Given the description of an element on the screen output the (x, y) to click on. 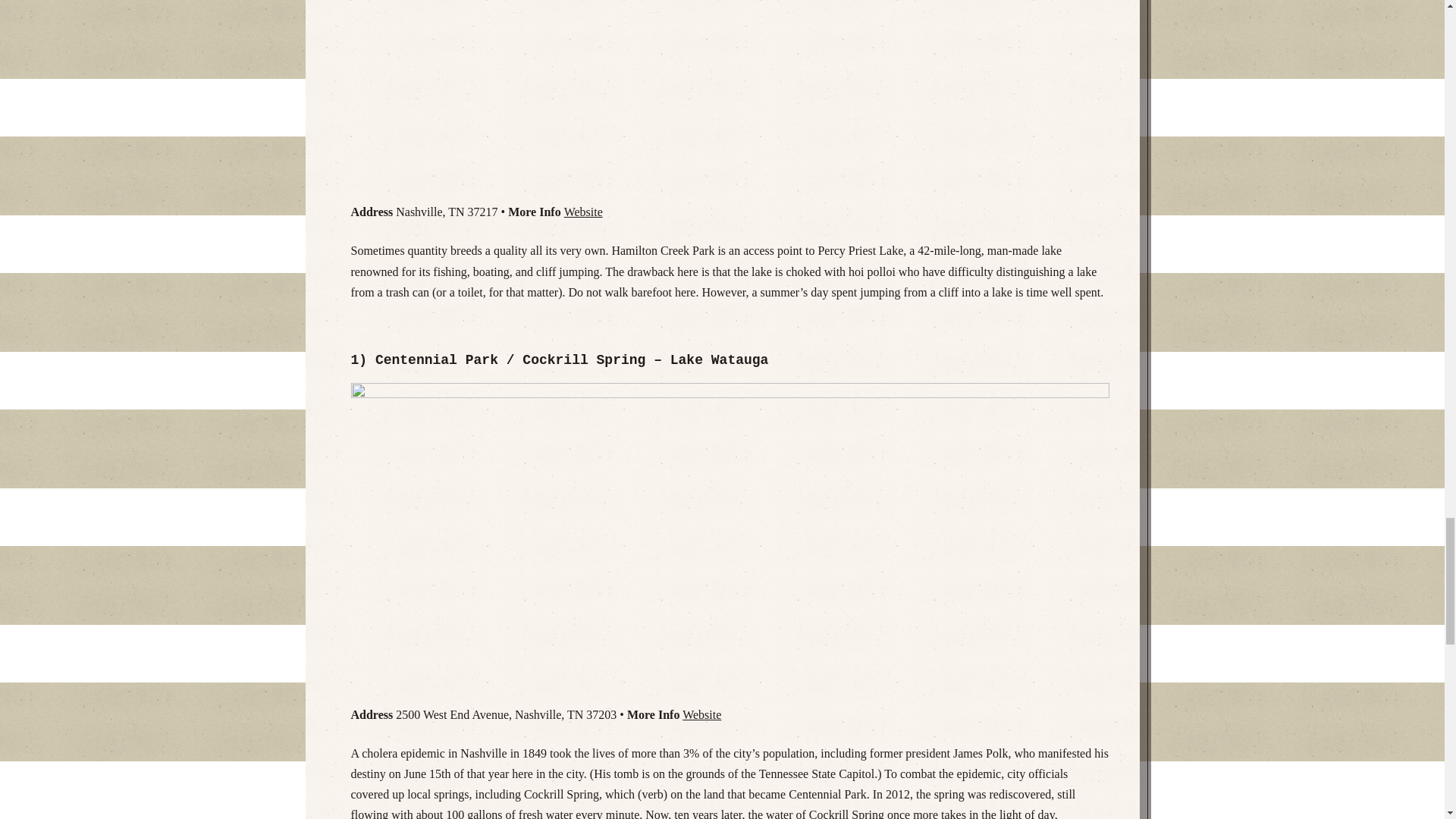
Website (583, 211)
Website (701, 714)
